Given the description of an element on the screen output the (x, y) to click on. 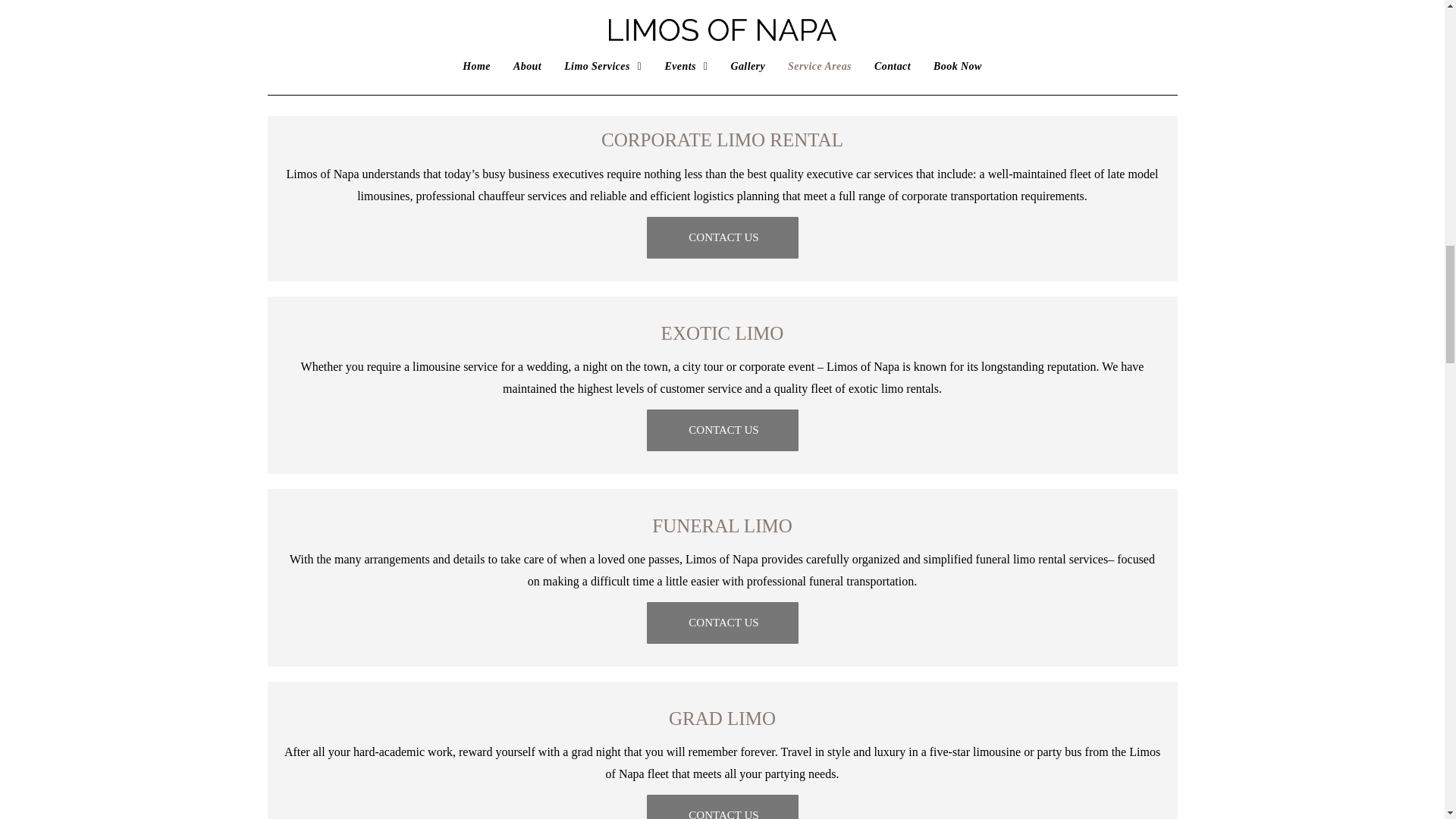
CONTACT US (721, 237)
CONTACT US (721, 430)
CONTACT US (721, 806)
CONTACT US (721, 44)
CONTACT US (721, 622)
